Given the description of an element on the screen output the (x, y) to click on. 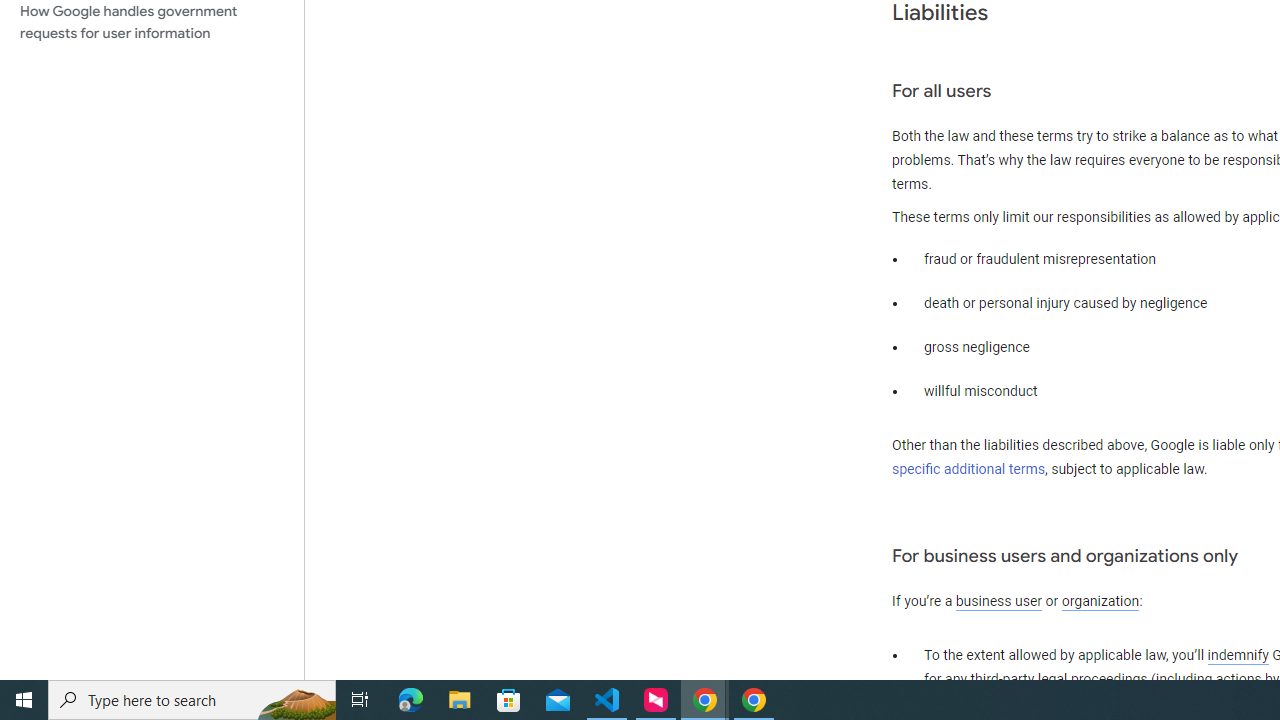
business user (998, 602)
indemnify (1237, 656)
organization (1100, 602)
